Given the description of an element on the screen output the (x, y) to click on. 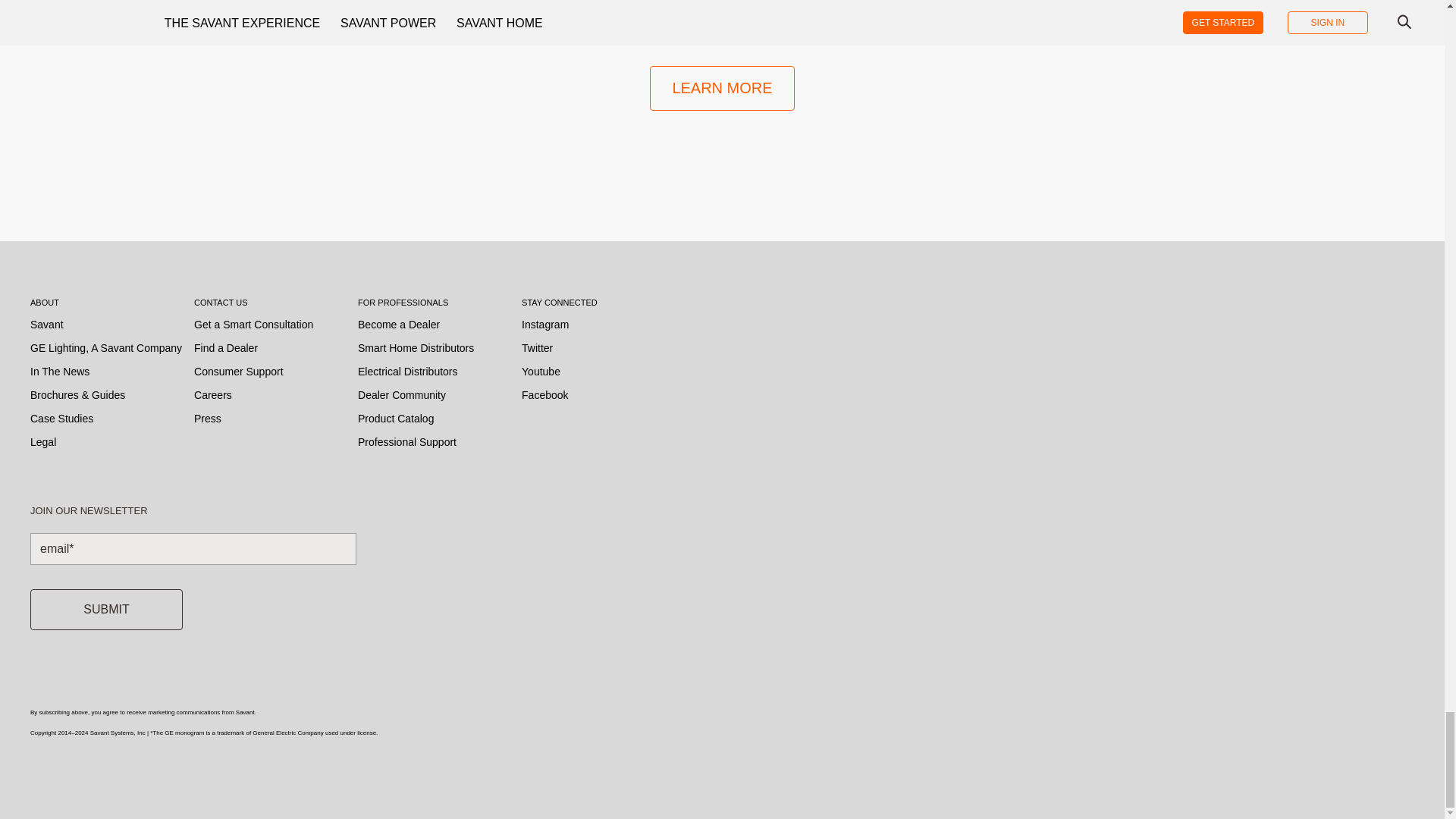
Product Catalog (395, 418)
Careers (212, 394)
Consumer Support (238, 371)
SUBMIT (106, 608)
Instagram (545, 324)
USING SCENES (721, 2)
Youtube (540, 371)
Press (207, 418)
Smart Home Distributors (416, 348)
GE Lighting, A Savant Company (106, 348)
